Given the description of an element on the screen output the (x, y) to click on. 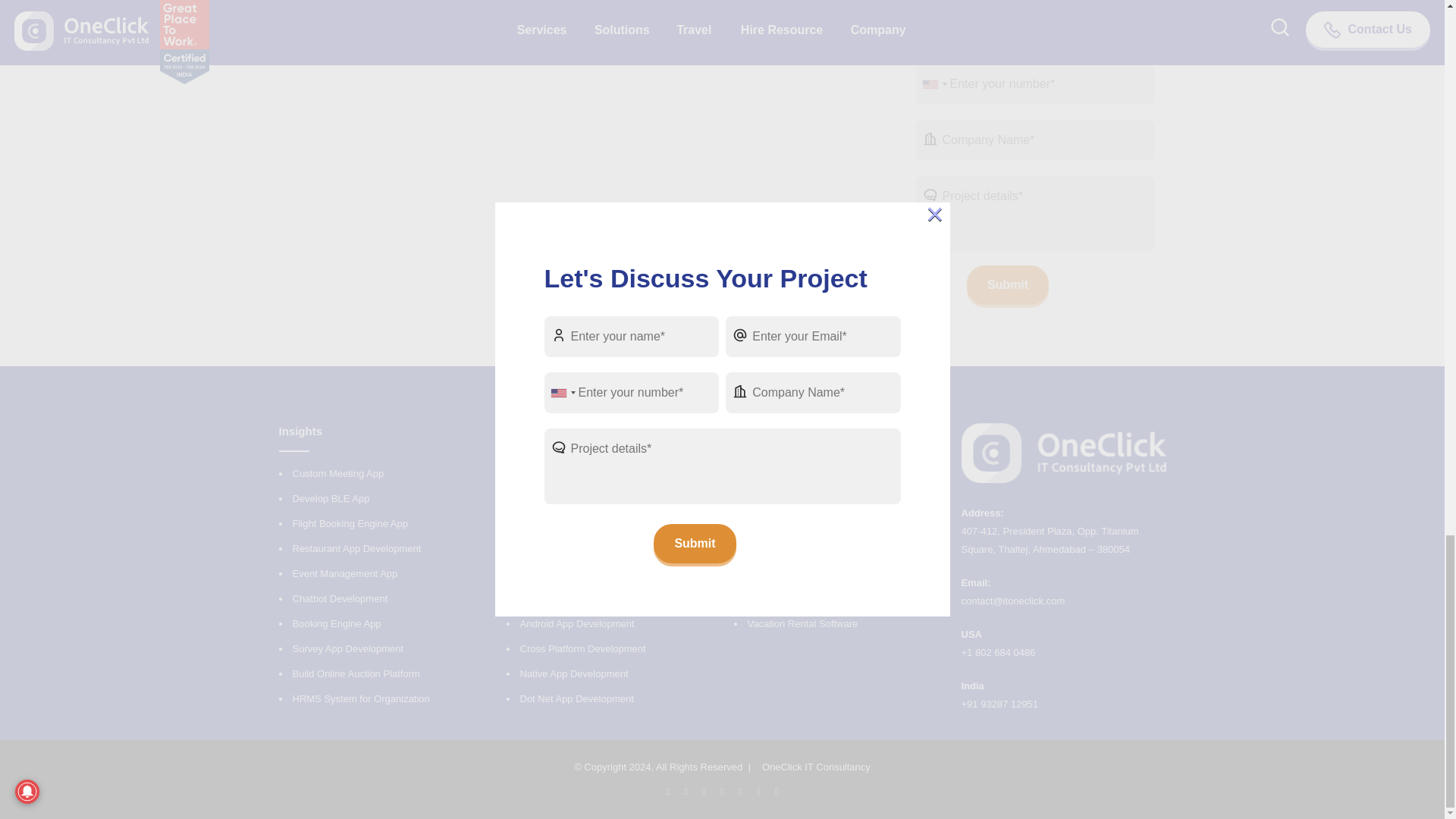
Submit (1007, 284)
Visit Us (999, 704)
Visit Us (1012, 600)
Visit Us (1049, 540)
Visit Us (997, 652)
